Given the description of an element on the screen output the (x, y) to click on. 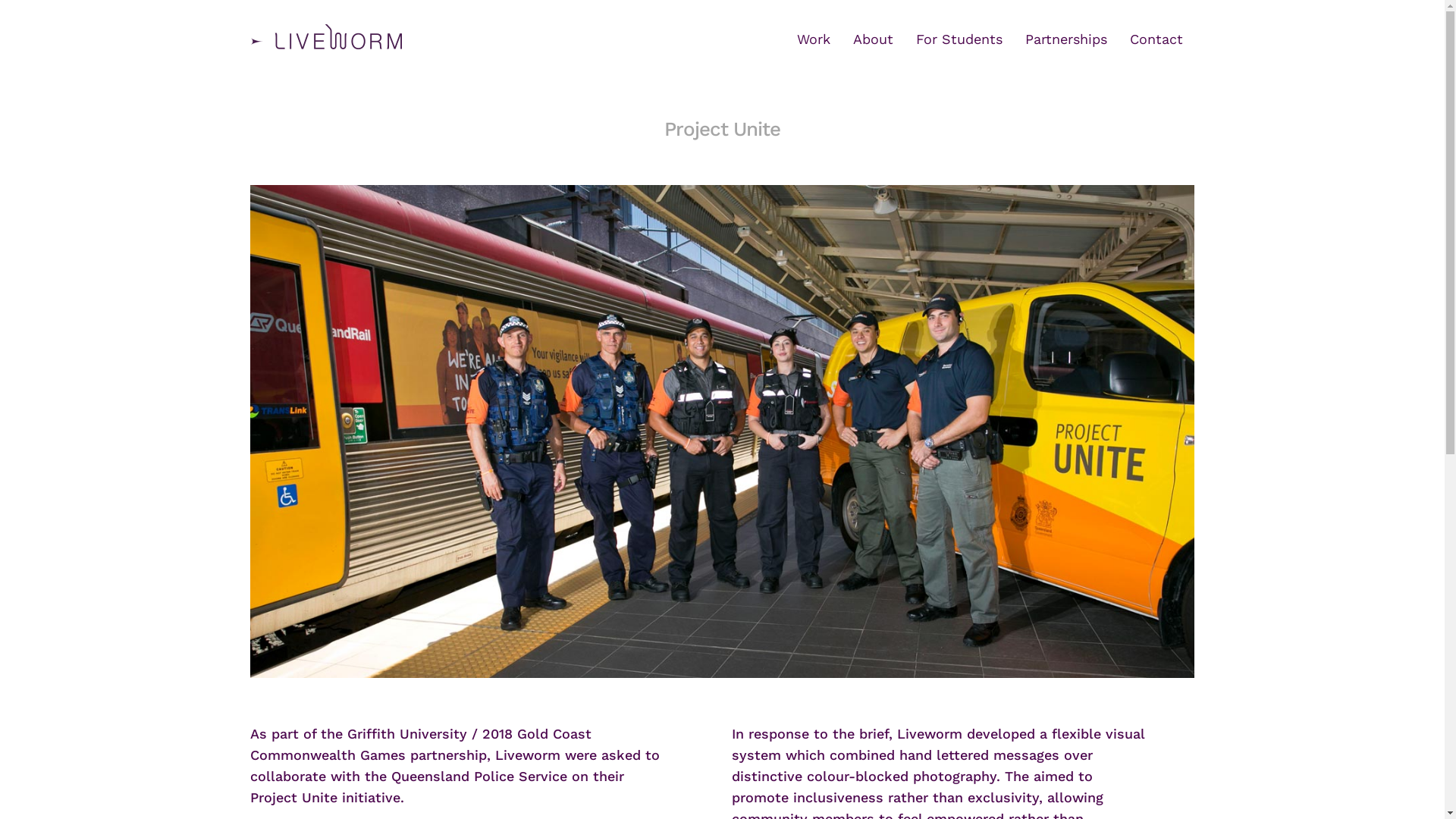
Contact Element type: text (1156, 39)
For Students Element type: text (958, 39)
Partnerships Element type: text (1065, 39)
Work Element type: text (813, 39)
About Element type: text (872, 39)
